Given the description of an element on the screen output the (x, y) to click on. 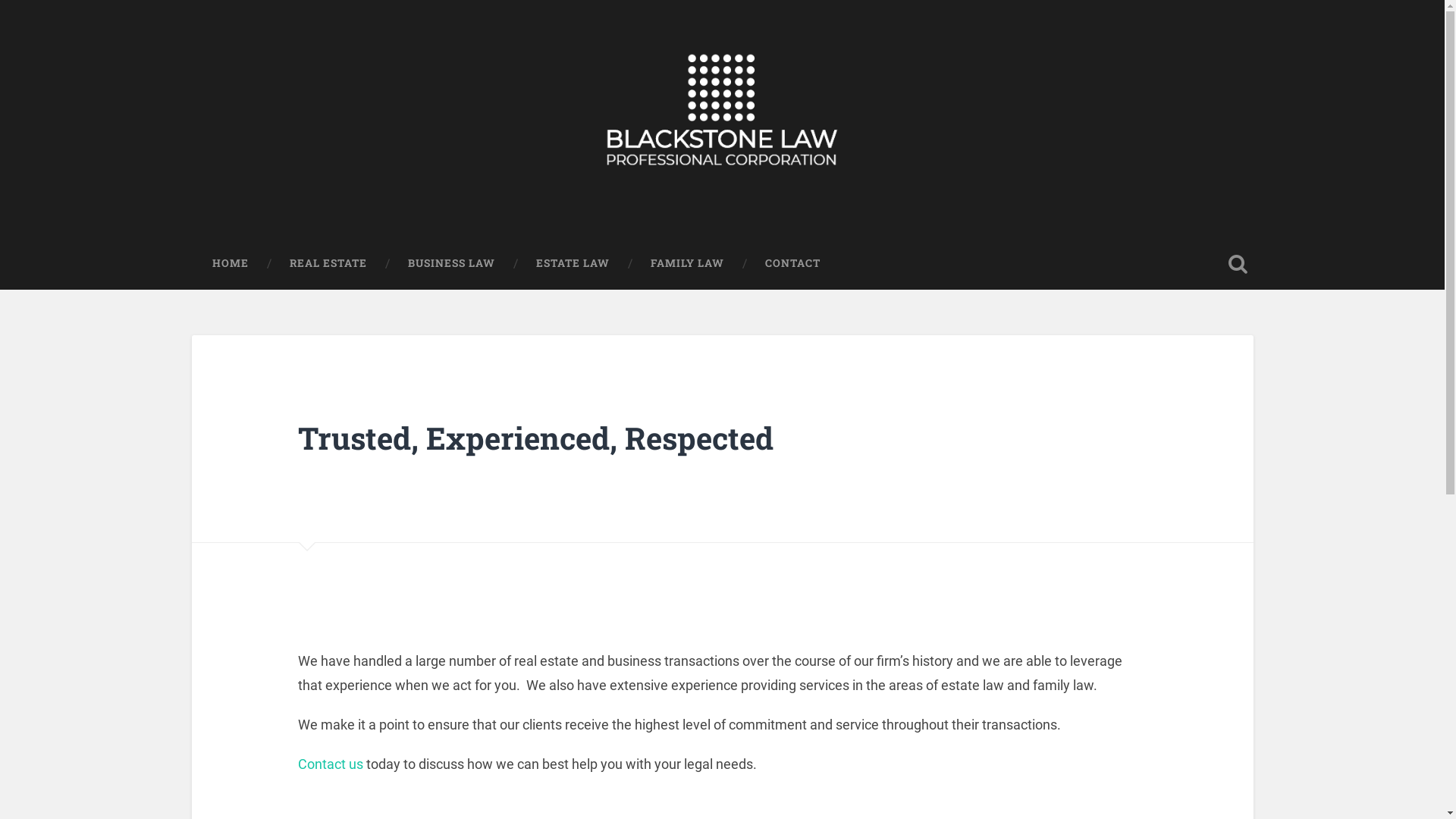
CONTACT Element type: text (792, 263)
Open Search Element type: text (1237, 263)
Blackstone Law Professional Corporation Element type: text (464, 199)
BUSINESS LAW Element type: text (450, 263)
Search Element type: text (21, 61)
Contact us Element type: text (329, 763)
HOME Element type: text (229, 263)
FAMILY LAW Element type: text (686, 263)
ESTATE LAW Element type: text (572, 263)
REAL ESTATE Element type: text (327, 263)
Skip to content Element type: text (45, 7)
